Given the description of an element on the screen output the (x, y) to click on. 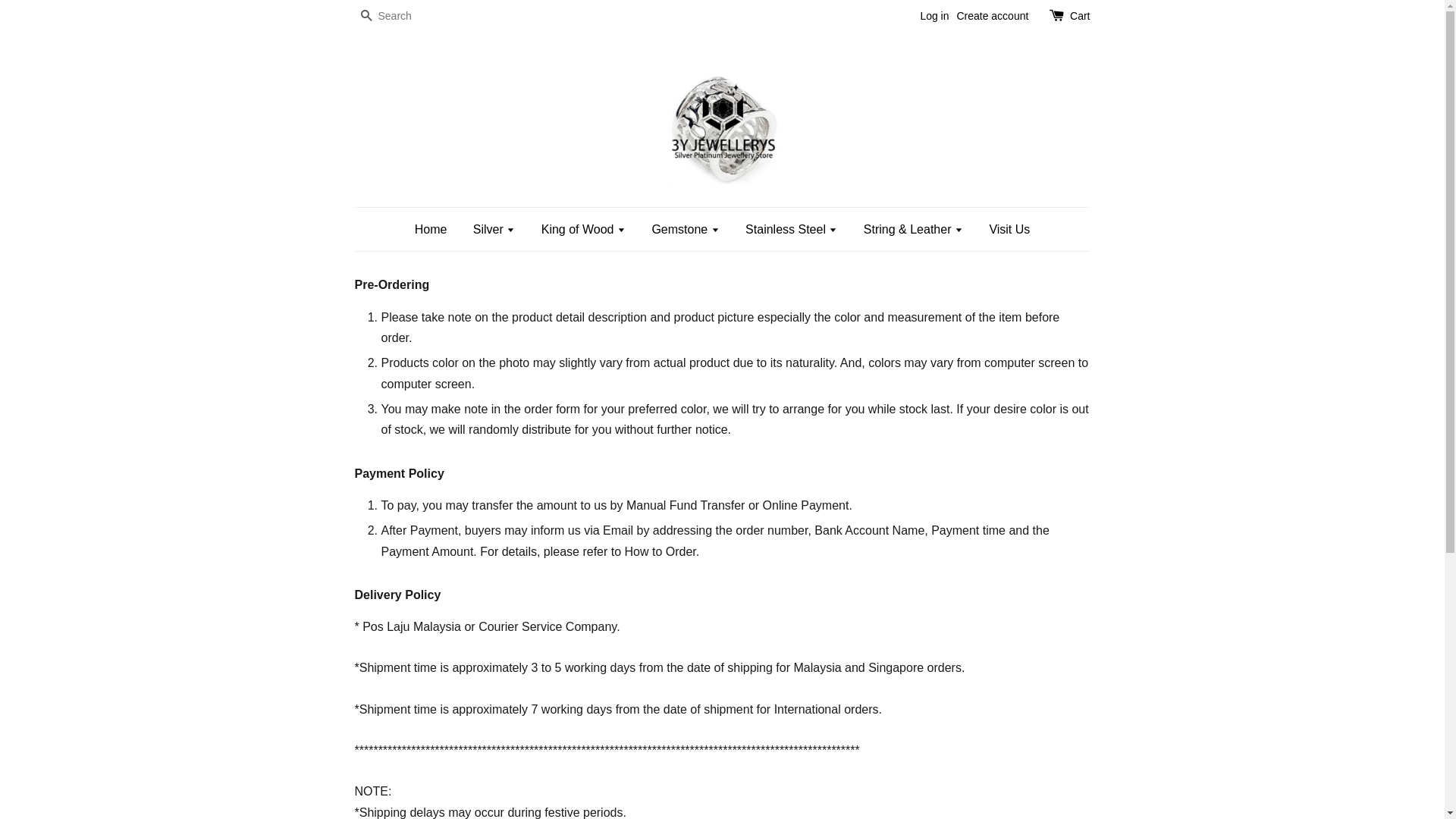
Visit Us Element type: text (1003, 229)
Cart Element type: text (1079, 16)
Stainless Steel Element type: text (791, 229)
Gemstone Element type: text (685, 229)
Log in Element type: text (933, 15)
Search Element type: text (365, 16)
Create account Element type: text (992, 15)
Home Element type: text (436, 229)
String & Leather Element type: text (913, 229)
King of Wood Element type: text (583, 229)
Silver Element type: text (493, 229)
